Given the description of an element on the screen output the (x, y) to click on. 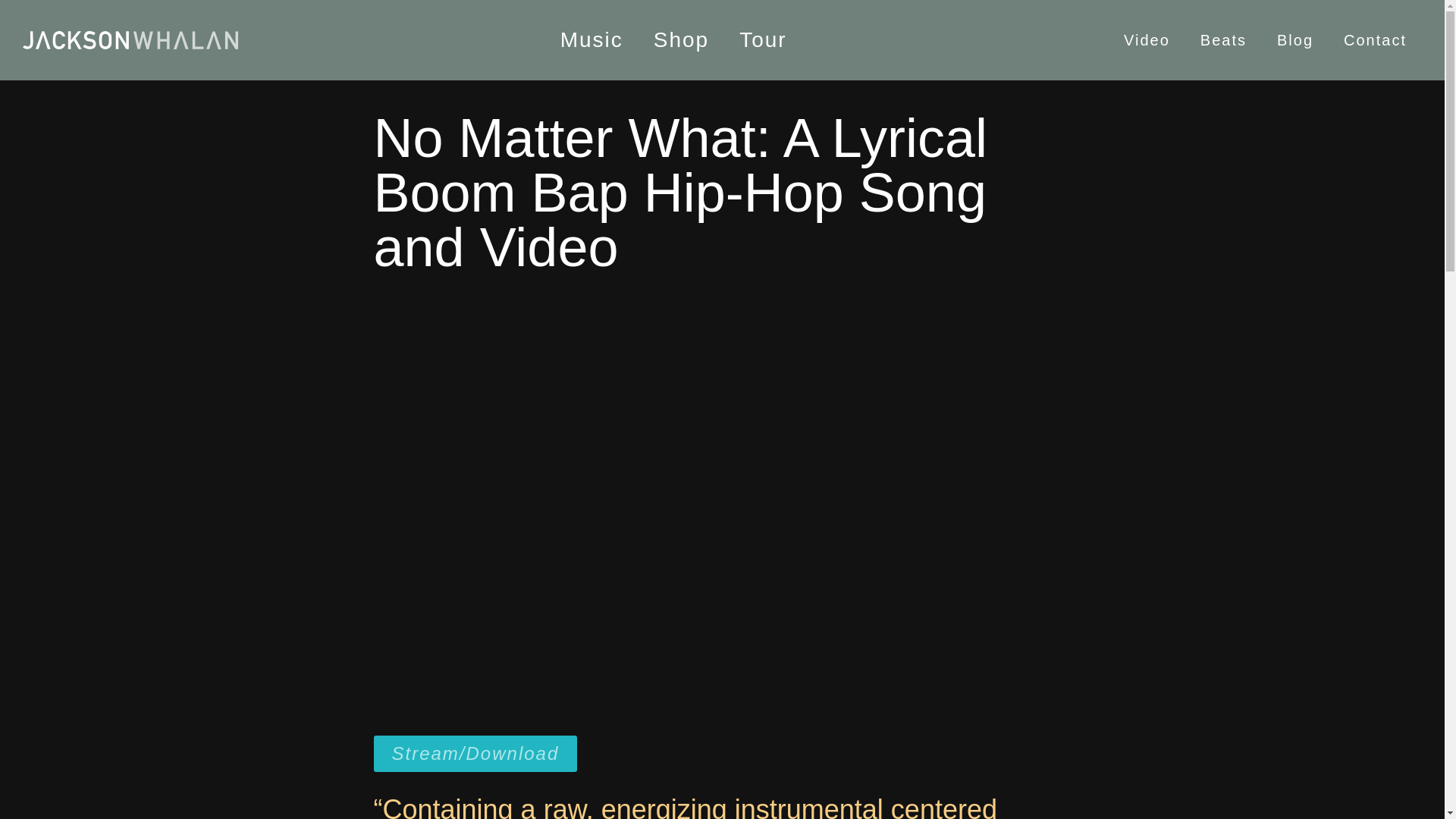
Shop (681, 39)
Beats (1223, 39)
Tour (762, 39)
Blog (1294, 39)
Jackson-Whalan-logo-horizontal (130, 40)
Contact (1374, 39)
Video (1146, 39)
Music (591, 39)
